Given the description of an element on the screen output the (x, y) to click on. 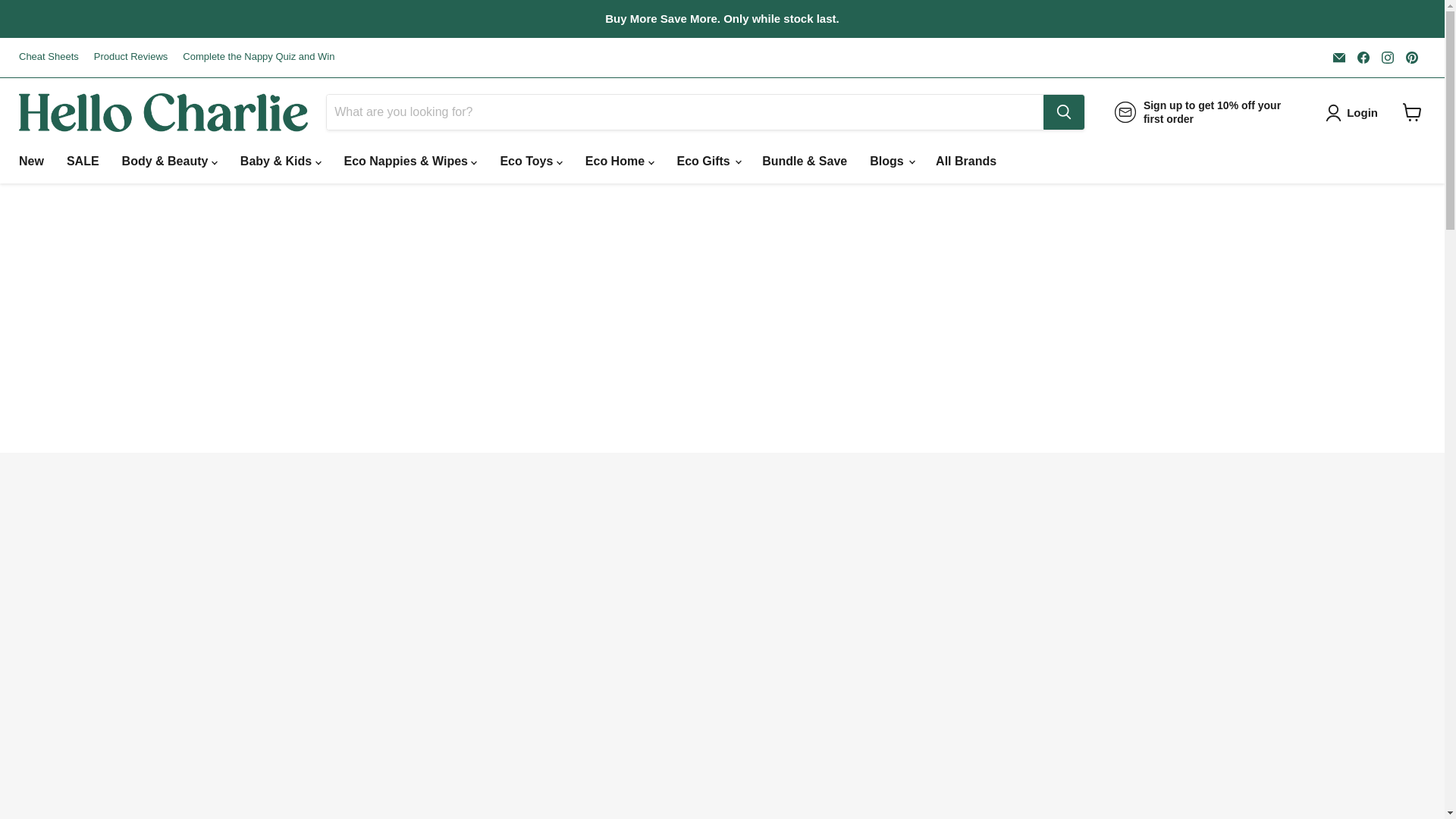
Cheat Sheets (48, 57)
Email Hello Charlie (1338, 56)
Complete the Nappy Quiz and Win (258, 57)
Product Reviews (131, 57)
Find us on Instagram (1387, 56)
SALE (82, 161)
New (31, 161)
Pinterest (1411, 56)
Email (1338, 56)
Login (1354, 112)
